Given the description of an element on the screen output the (x, y) to click on. 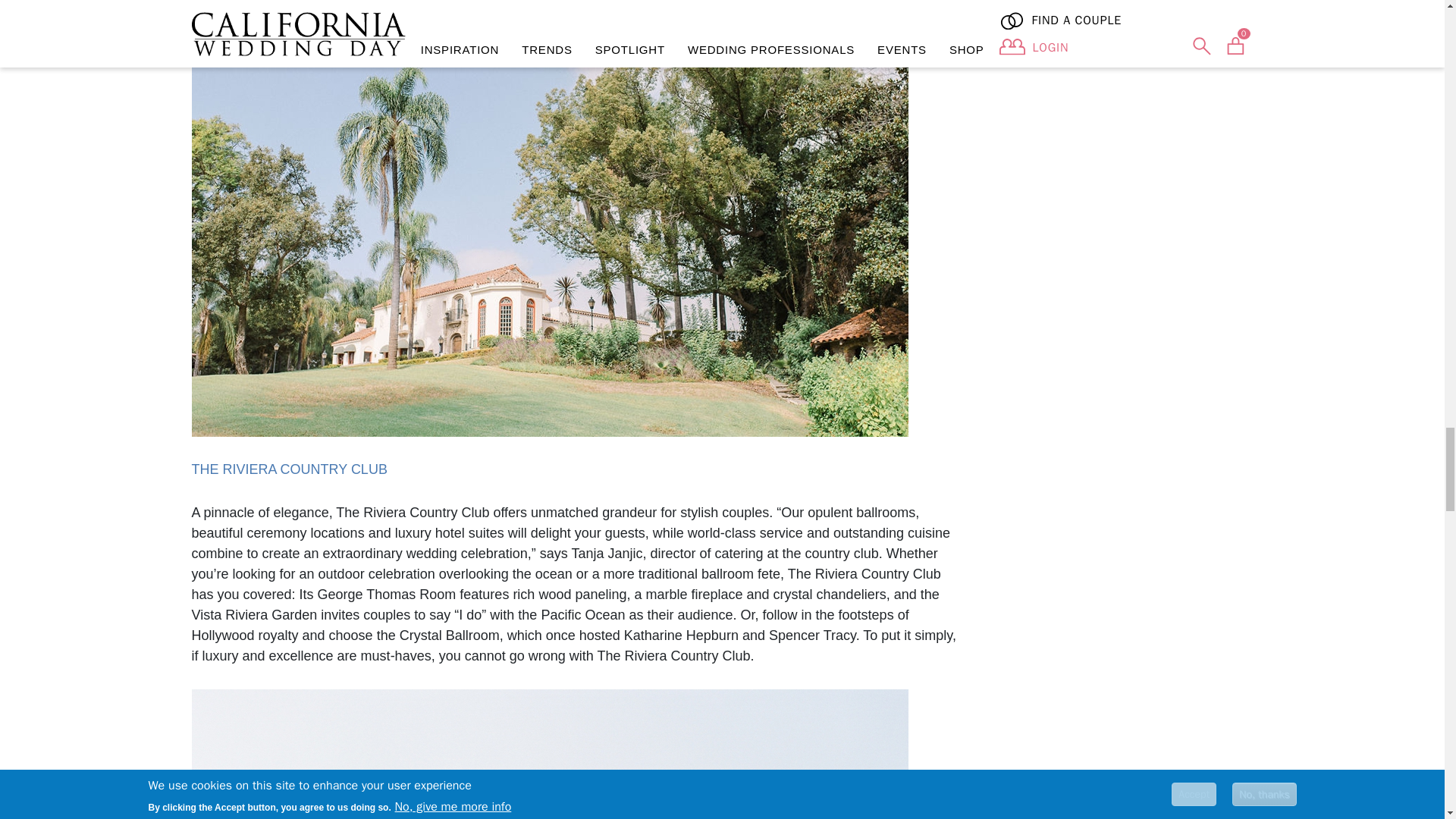
Photo by Braedon Photography (548, 754)
THE RIVIERA COUNTRY CLUB (288, 468)
